Given the description of an element on the screen output the (x, y) to click on. 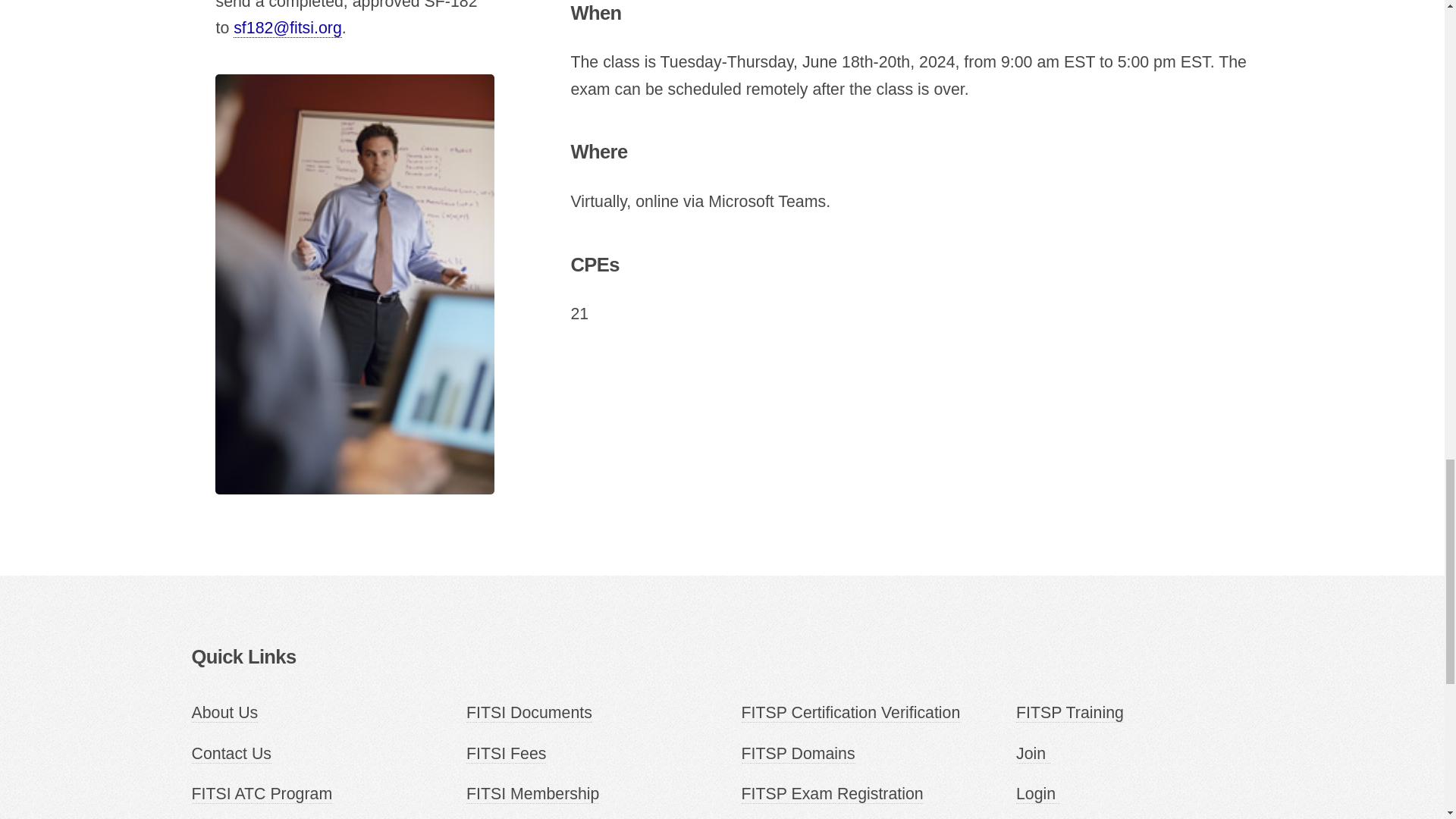
FITSP Exam Registration (832, 793)
Contact Us (230, 753)
FITSI Documents (528, 712)
FITSI Fees (505, 753)
FITSI ATC Program (260, 793)
Join  (1032, 753)
FITSP Certification Verification (850, 712)
FITSP Domains (798, 753)
About Us (223, 712)
FITSP Training (1070, 712)
